Given the description of an element on the screen output the (x, y) to click on. 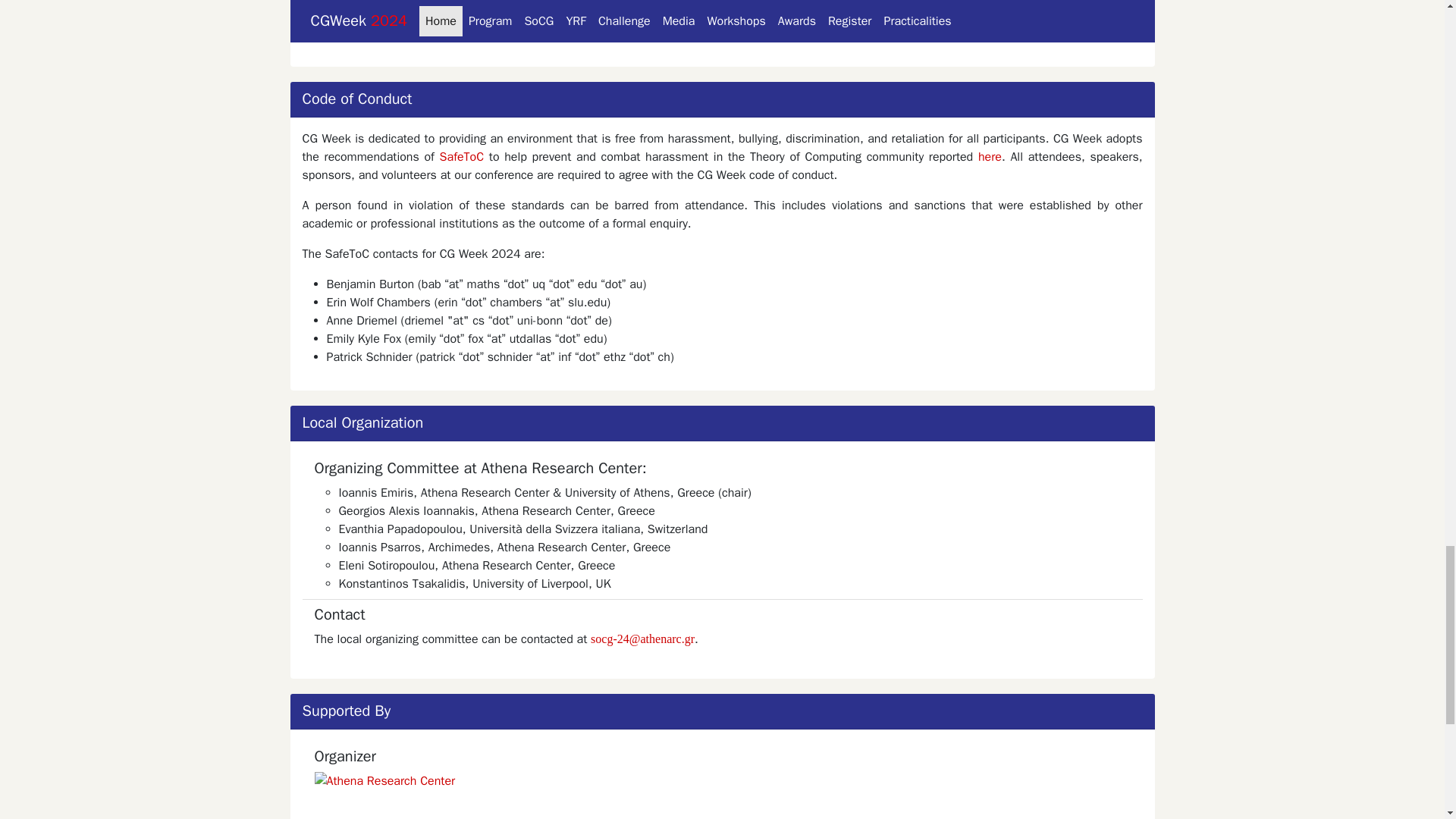
SafeToC (461, 156)
contact (480, 32)
Athena Research Center (721, 794)
here (989, 156)
